Given the description of an element on the screen output the (x, y) to click on. 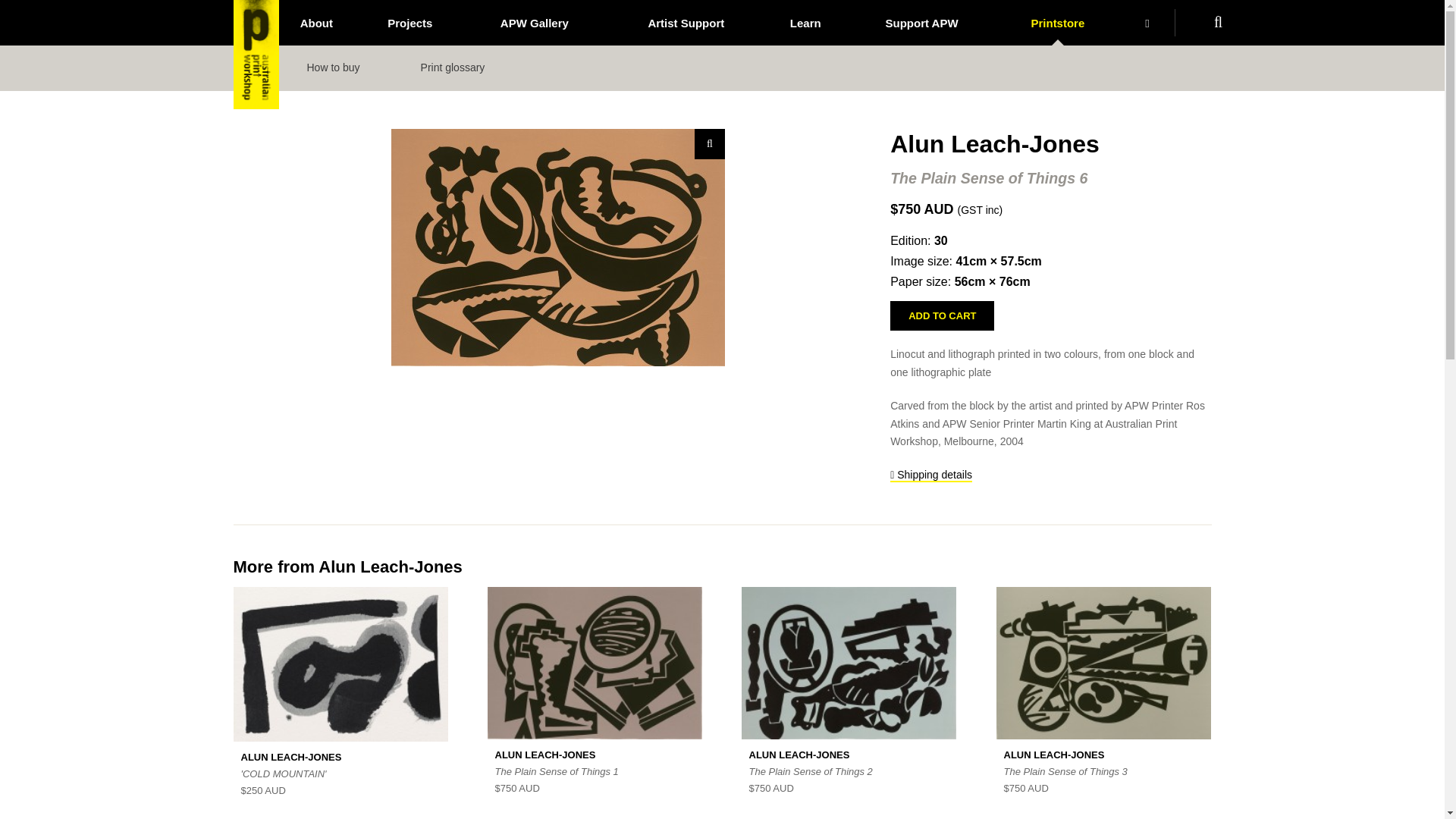
Add to cart (941, 315)
APW Gallery (534, 22)
About (316, 22)
Learn (805, 22)
Artist Support (686, 22)
Projects (409, 22)
Support APW (921, 22)
